Given the description of an element on the screen output the (x, y) to click on. 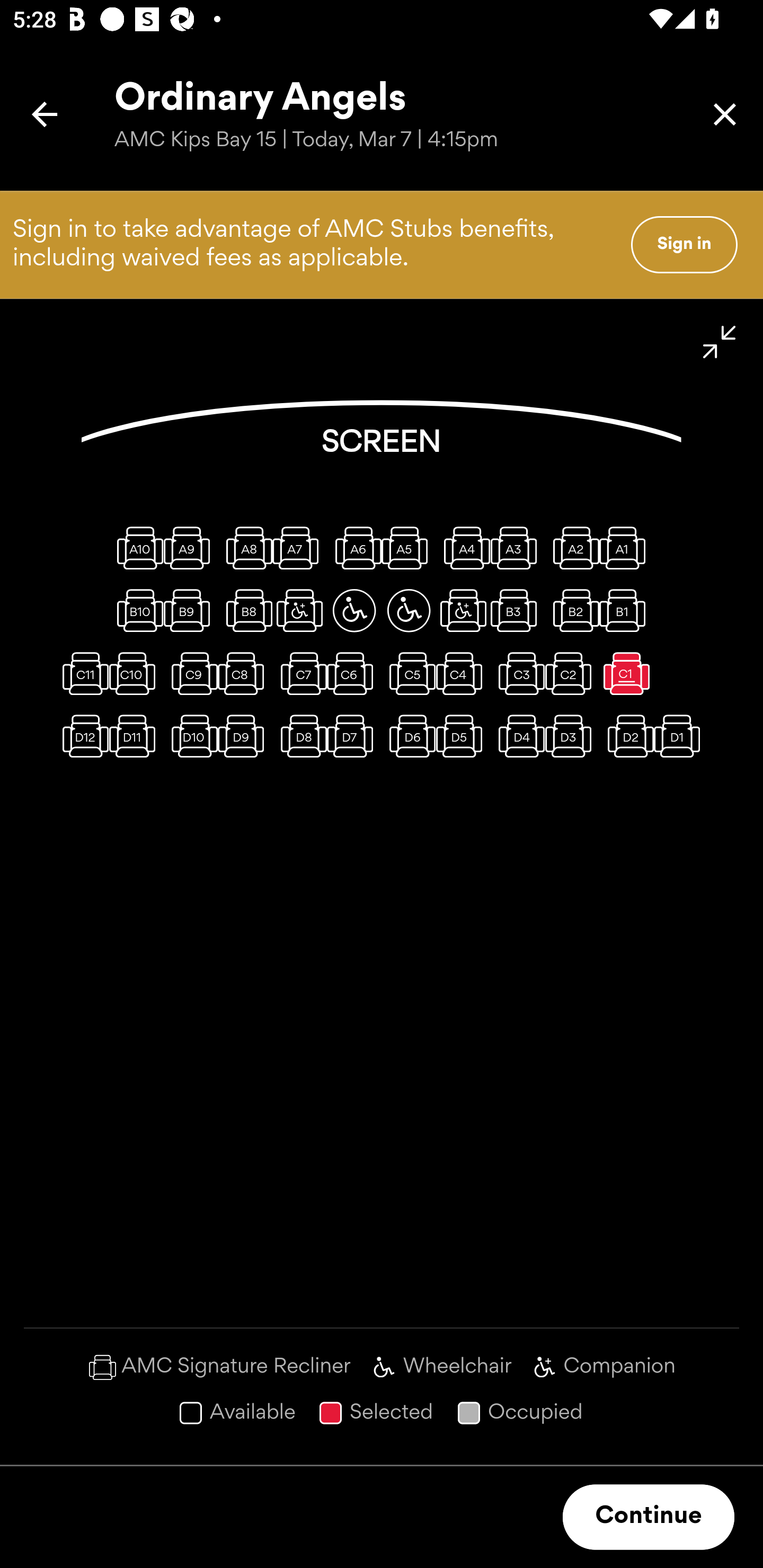
Back (44, 114)
Close (724, 114)
Sign in (684, 244)
Minimize (719, 342)
A10, Regular seat, available (136, 547)
A9, Regular seat, available (190, 547)
A8, Regular seat, available (244, 547)
A7, Regular seat, available (299, 547)
A6, Regular seat, available (353, 547)
A5, Regular seat, available (408, 547)
A4, Regular seat, available (463, 547)
A3, Regular seat, available (517, 547)
A2, Regular seat, available (571, 547)
A1, Regular seat, available (625, 547)
B10, Regular seat, available (136, 610)
B9, Regular seat, available (190, 610)
B8, Regular seat, available (244, 610)
B7, Wheelchair companion seat, available (299, 610)
B6, Wheelchair space, available (353, 610)
B5, Wheelchair space, available (408, 610)
B4, Wheelchair companion seat, available (463, 610)
B3, Regular seat, available (517, 610)
B2, Regular seat, available (571, 610)
B1, Regular seat, available (625, 610)
C11, Regular seat, available (81, 672)
C10, Regular seat, available (136, 672)
C9, Regular seat, available (190, 672)
C8, Regular seat, available (244, 672)
C7, Regular seat, available (299, 672)
C6, Regular seat, available (353, 672)
C5, Regular seat, available (408, 672)
C4, Regular seat, available (463, 672)
C3, Regular seat, available (517, 672)
C2, Regular seat, available (571, 672)
C1, Regular seat, selected (625, 672)
D12, Regular seat, available (81, 736)
D11, Regular seat, available (136, 736)
D10, Regular seat, available (190, 736)
D9, Regular seat, available (244, 736)
D8, Regular seat, available (299, 736)
D7, Regular seat, available (353, 736)
D6, Regular seat, available (408, 736)
D5, Regular seat, available (463, 736)
D4, Regular seat, available (517, 736)
D3, Regular seat, available (571, 736)
D2, Regular seat, available (625, 736)
D1, Regular seat, available (680, 736)
Continue (648, 1516)
